Given the description of an element on the screen output the (x, y) to click on. 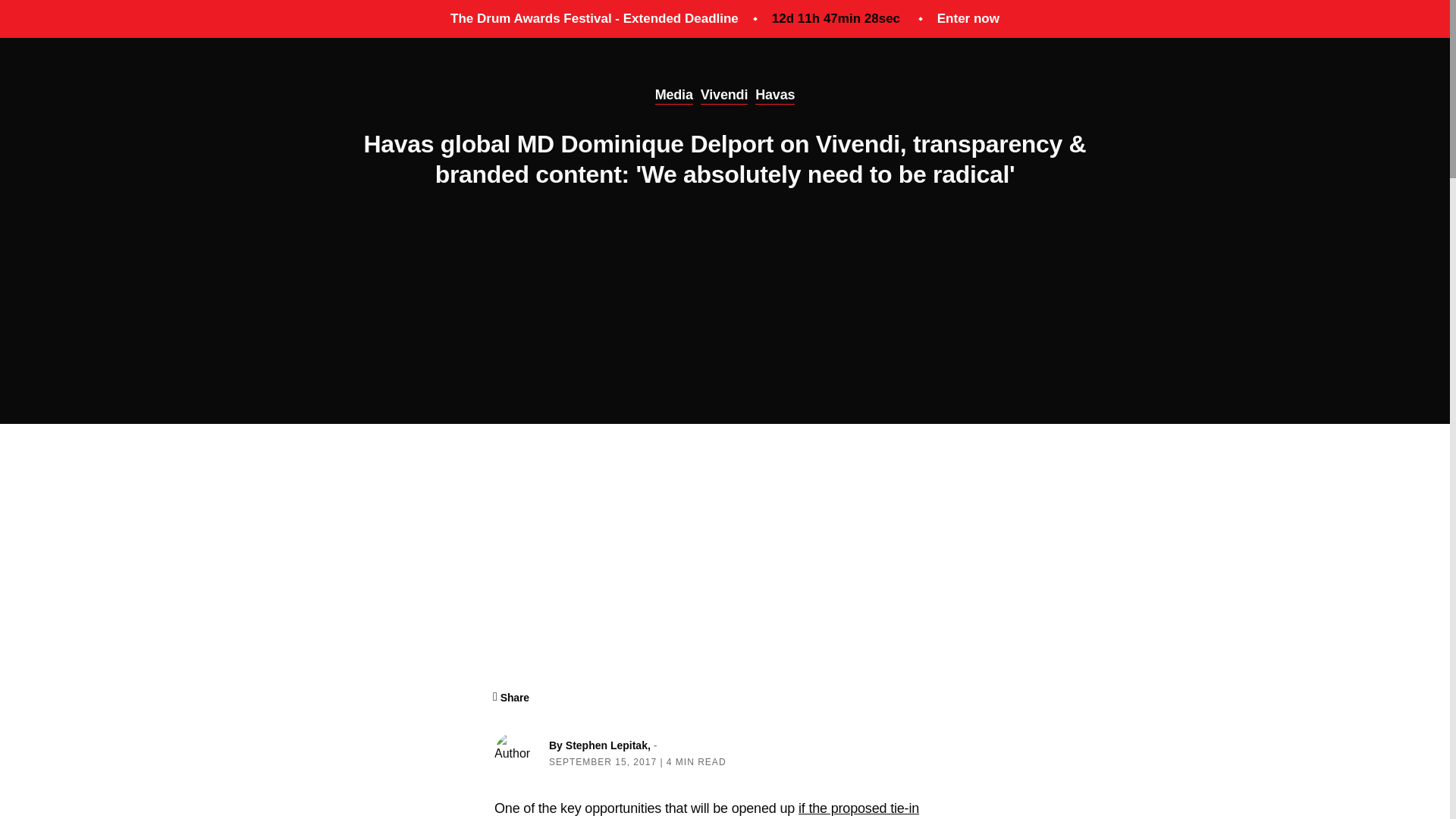
Stephen Lepitak, (609, 745)
Vivendi (724, 95)
Media (674, 95)
Share (512, 697)
Havas (774, 95)
Enter now (967, 18)
